Given the description of an element on the screen output the (x, y) to click on. 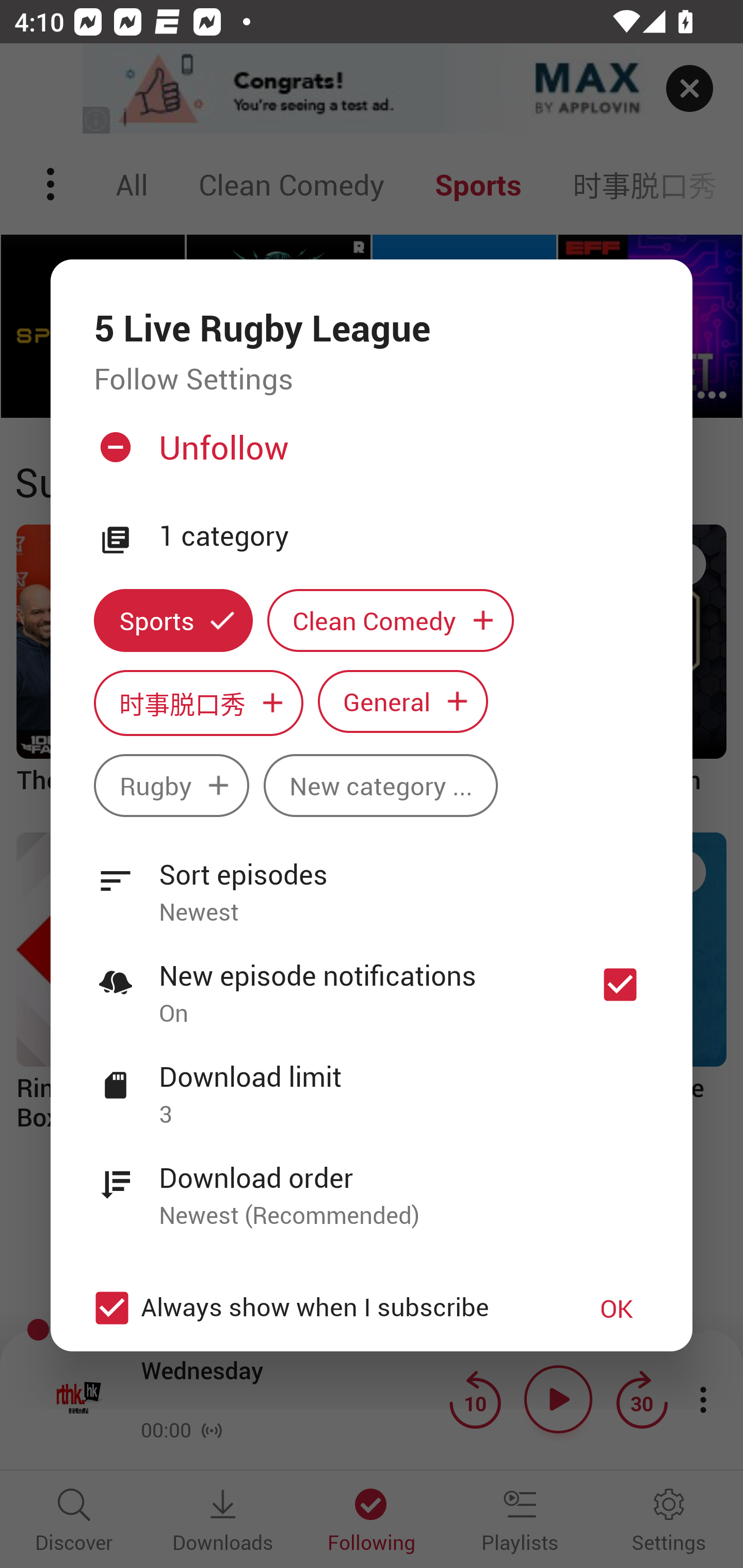
Unfollow (369, 454)
1 category (404, 535)
Sports (172, 620)
Clean Comedy (390, 620)
时事脱口秀 (198, 702)
General (403, 700)
Rugby (170, 785)
New category ... (380, 785)
Sort episodes Newest (371, 881)
New episode notifications (620, 984)
Download limit 3 (371, 1084)
Download order Newest (Recommended) (371, 1185)
OK (616, 1308)
Always show when I subscribe (320, 1308)
